Given the description of an element on the screen output the (x, y) to click on. 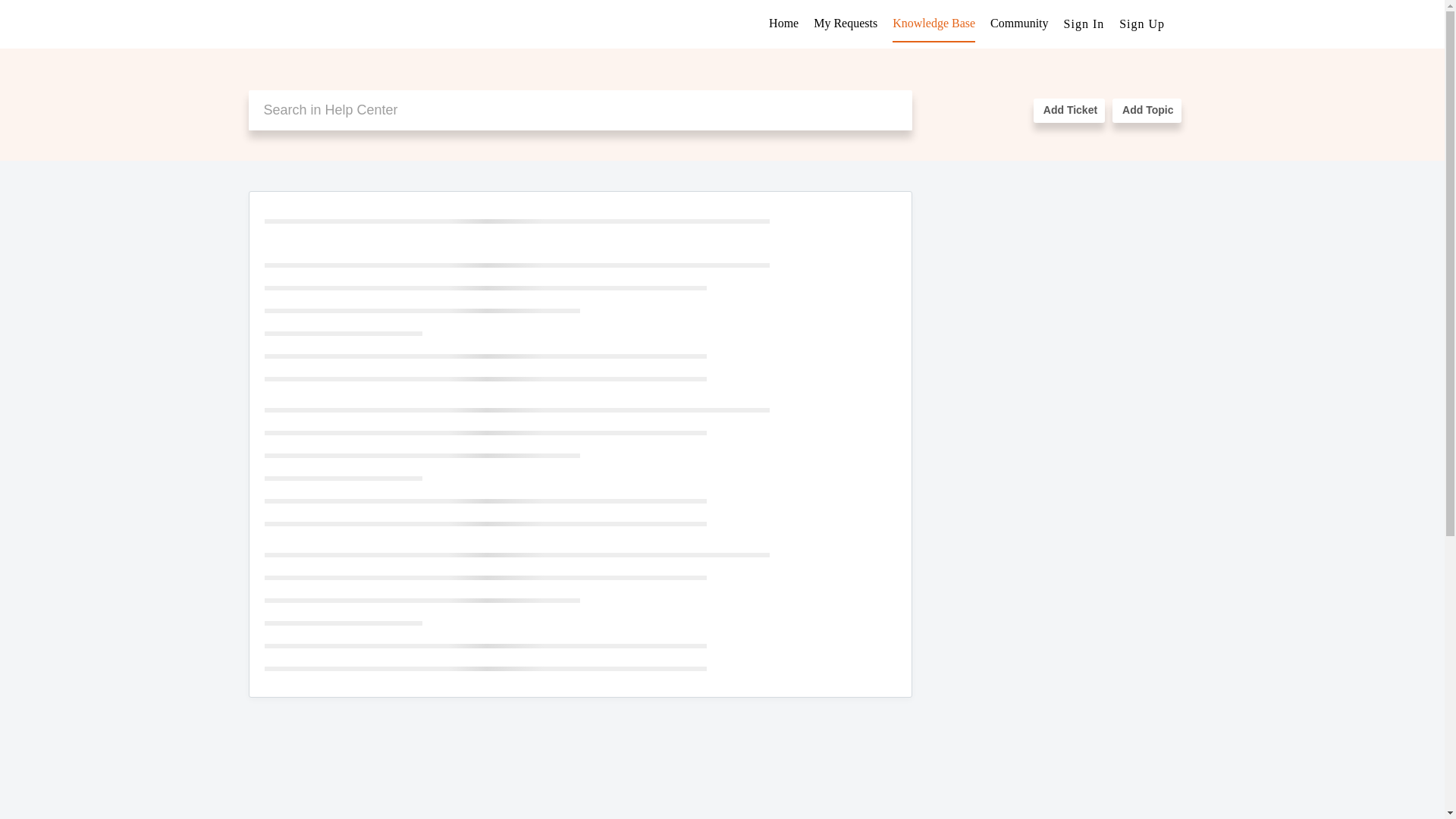
Sign In (1084, 23)
Knowledge Base (933, 22)
Add Topic (1146, 110)
My Requests (845, 22)
My Requests (845, 22)
Community (1019, 22)
Knowledge Base (933, 22)
Sign Up (1141, 23)
Add Ticket (1069, 110)
Community (1019, 22)
